Given the description of an element on the screen output the (x, y) to click on. 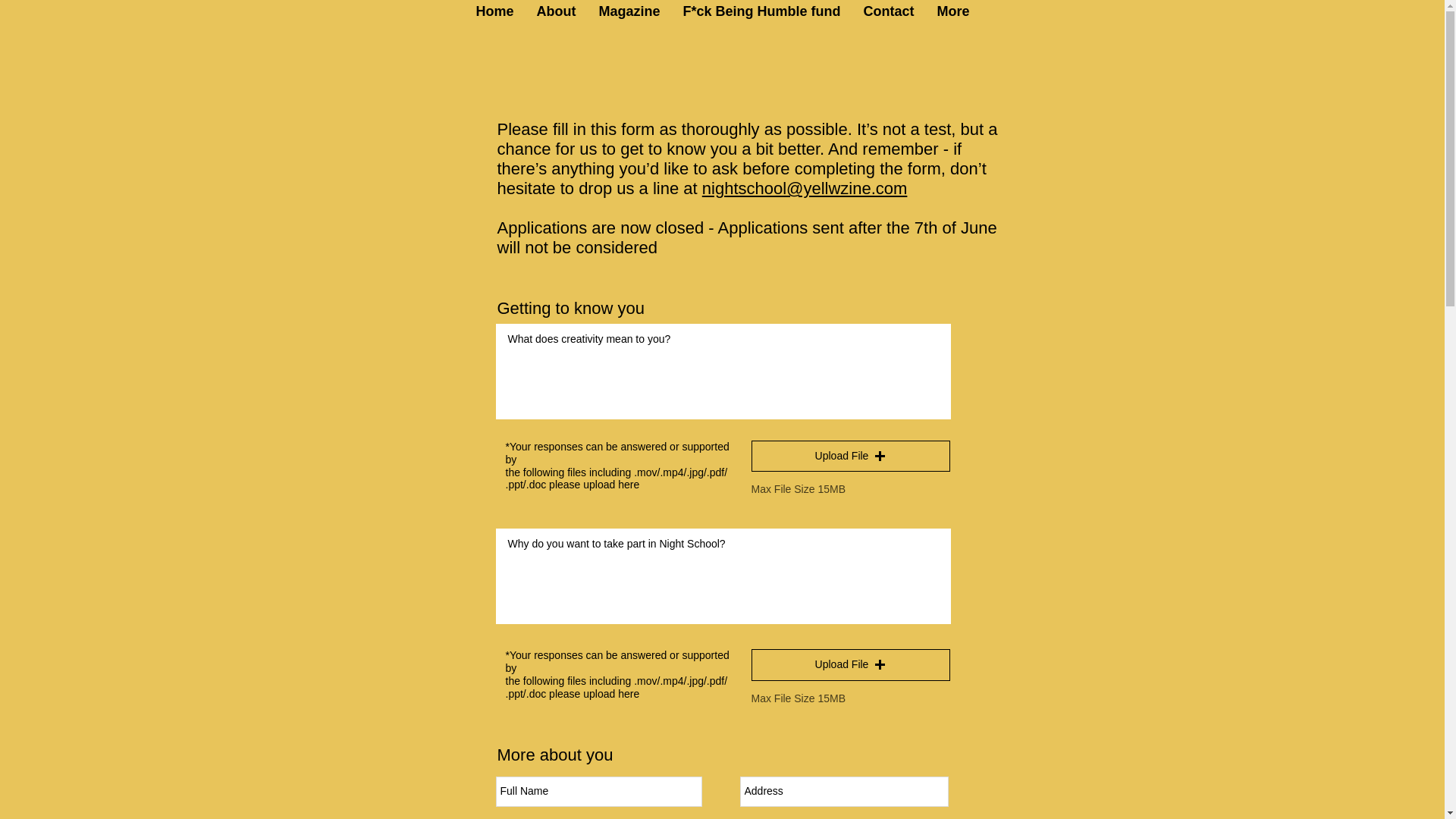
Max File Size 15MB (797, 489)
Max File Size 15MB (797, 698)
Magazine (628, 23)
Contact (888, 23)
Home (494, 23)
About (555, 23)
